Given the description of an element on the screen output the (x, y) to click on. 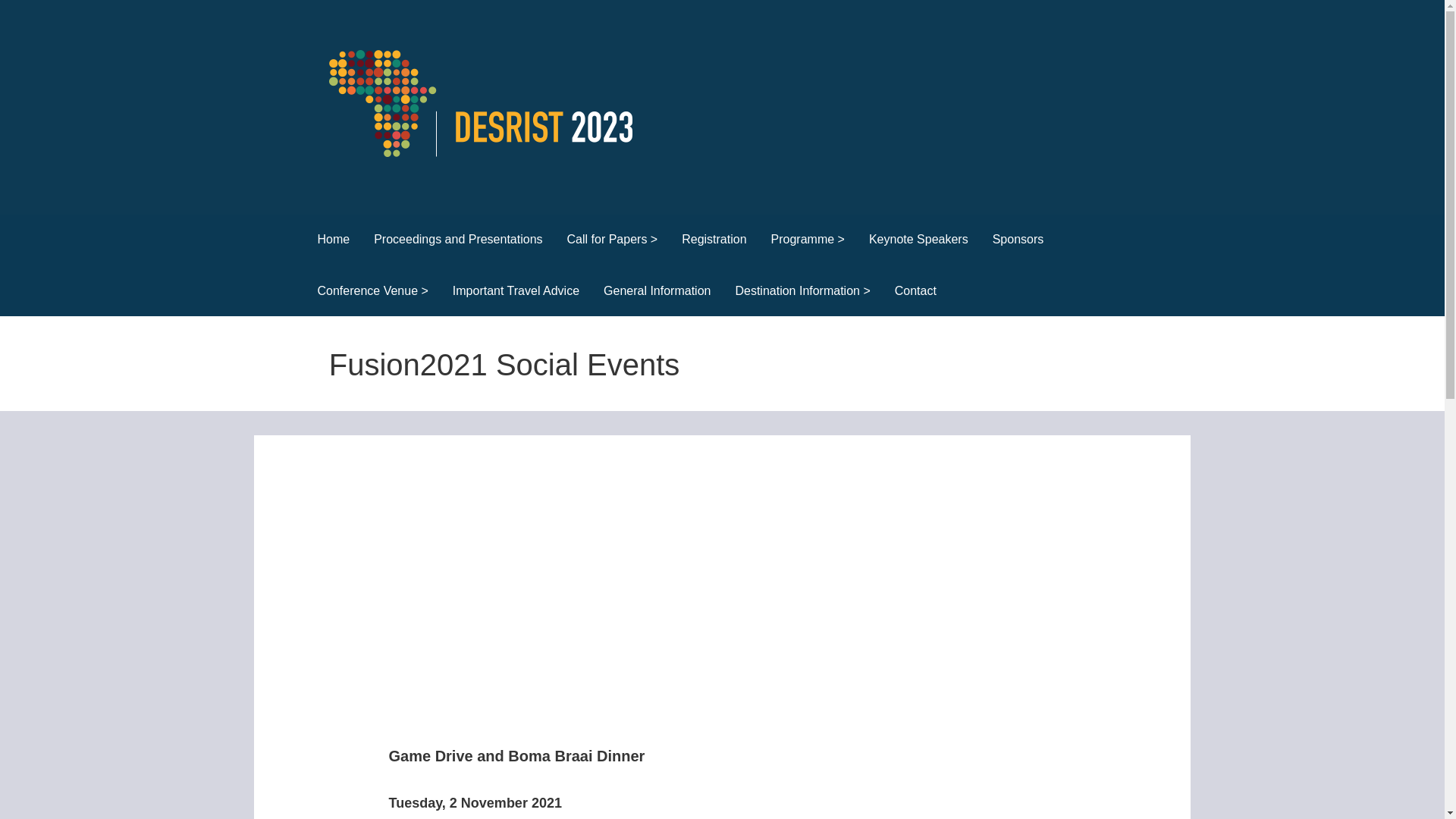
Home (332, 239)
Registration (713, 239)
DESRIST2023 (404, 183)
Keynote Speakers (918, 239)
Proceedings and Presentations (457, 239)
Important Travel Advice (516, 290)
Contact (915, 290)
General Information (656, 290)
Sponsors (1018, 239)
